Given the description of an element on the screen output the (x, y) to click on. 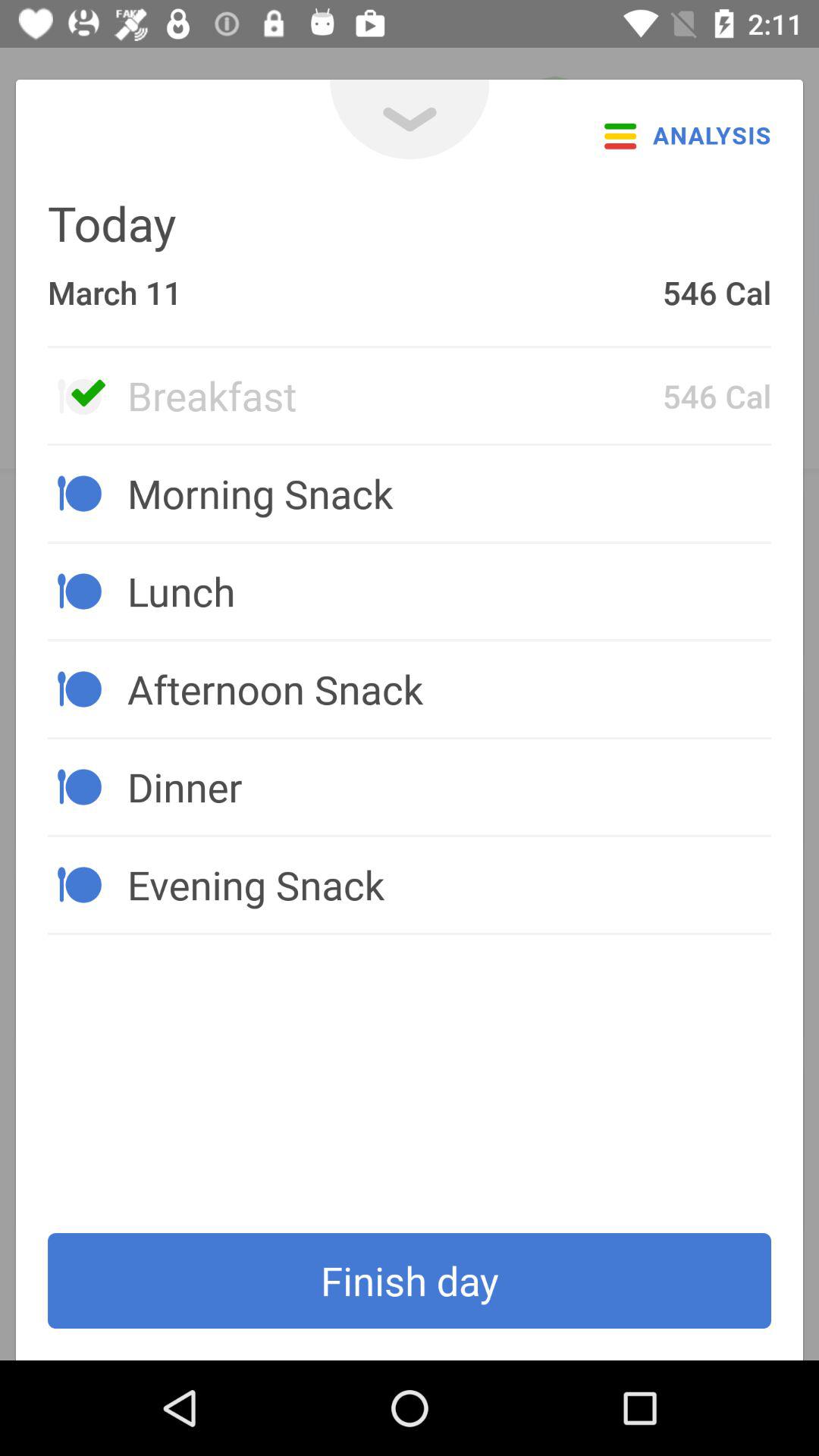
open the afternoon snack (449, 688)
